Given the description of an element on the screen output the (x, y) to click on. 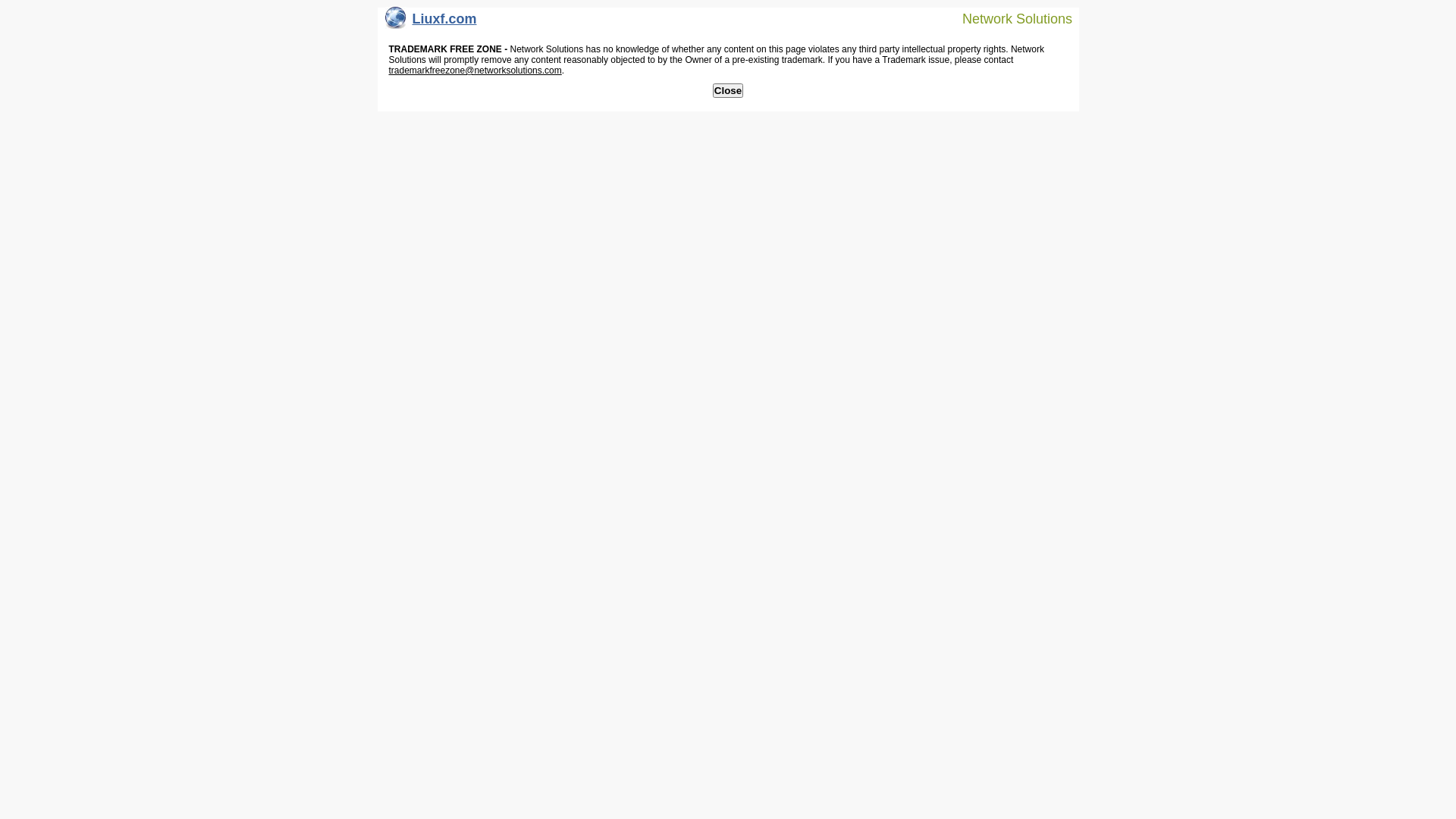
Network Solutions Element type: text (1007, 17)
Close Element type: text (727, 90)
trademarkfreezone@networksolutions.com Element type: text (474, 70)
Liuxf.com Element type: text (430, 21)
